Given the description of an element on the screen output the (x, y) to click on. 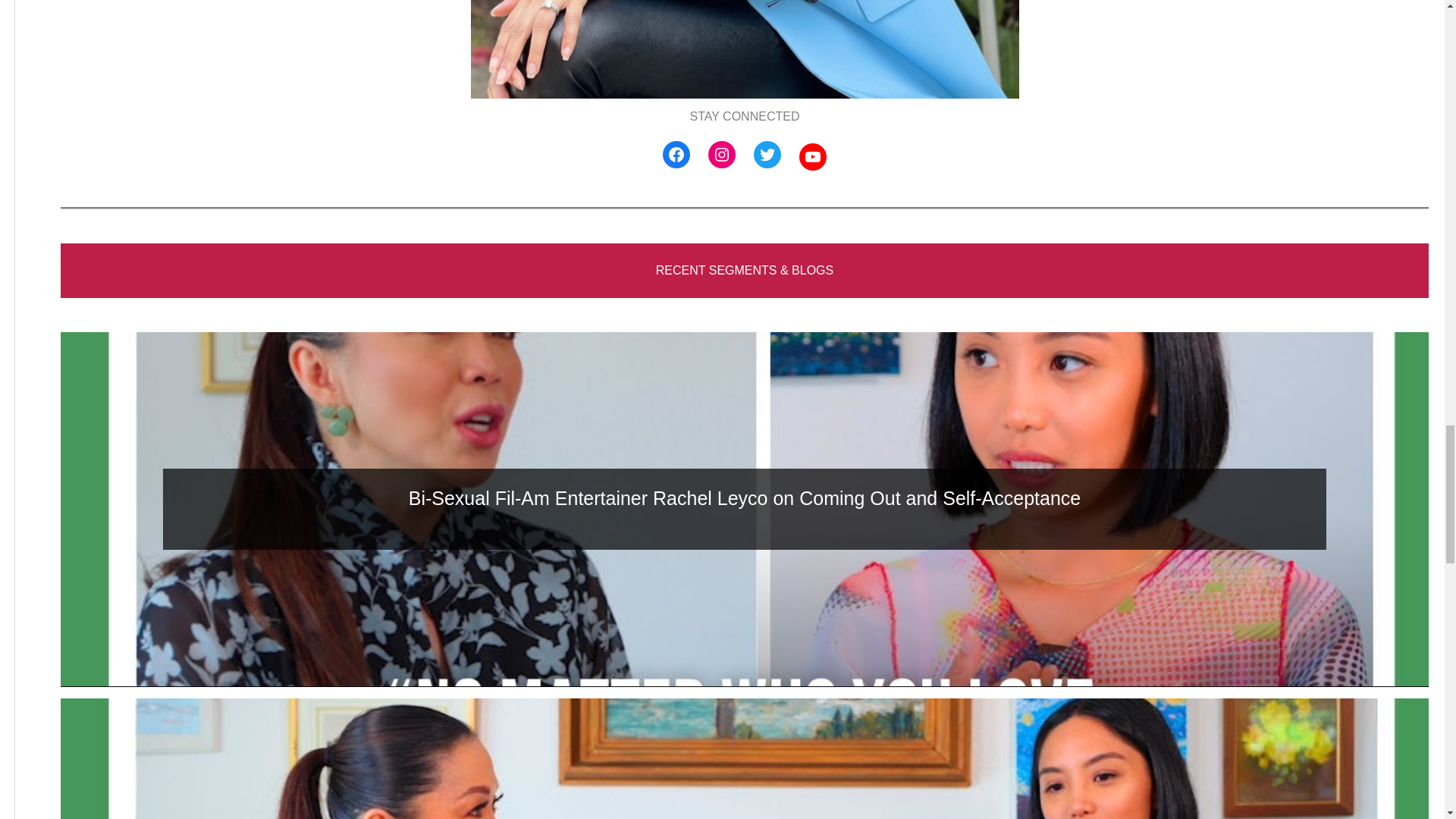
Facebook (676, 154)
Instagram (721, 154)
Twitter (767, 154)
YouTube (813, 156)
